Given the description of an element on the screen output the (x, y) to click on. 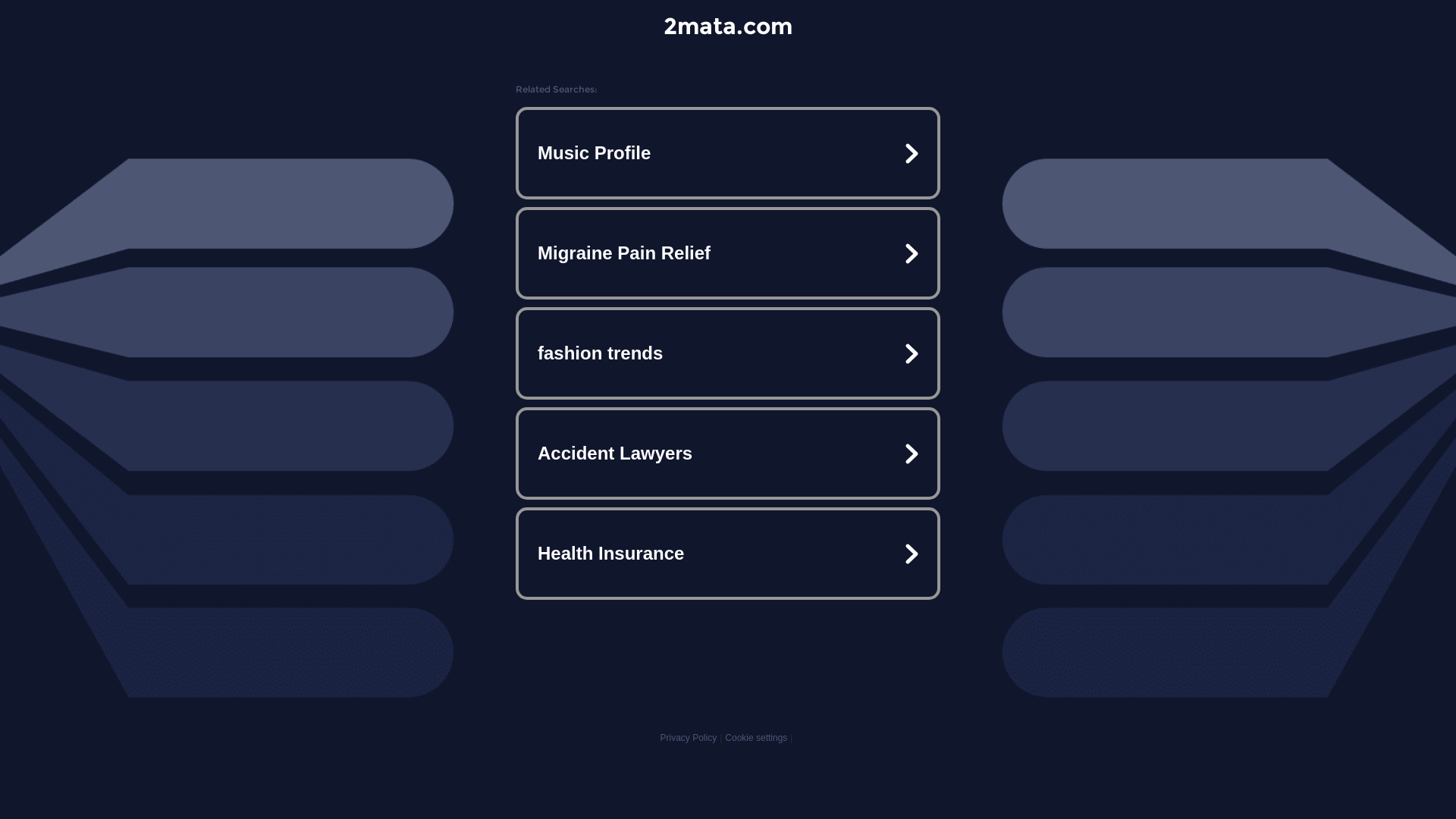
Accident Lawyers Element type: text (727, 453)
Privacy Policy Element type: text (687, 737)
Music Profile Element type: text (727, 152)
Health Insurance Element type: text (727, 553)
Cookie settings Element type: text (755, 737)
2mata.com Element type: text (727, 26)
Migraine Pain Relief Element type: text (727, 253)
fashion trends Element type: text (727, 353)
